Given the description of an element on the screen output the (x, y) to click on. 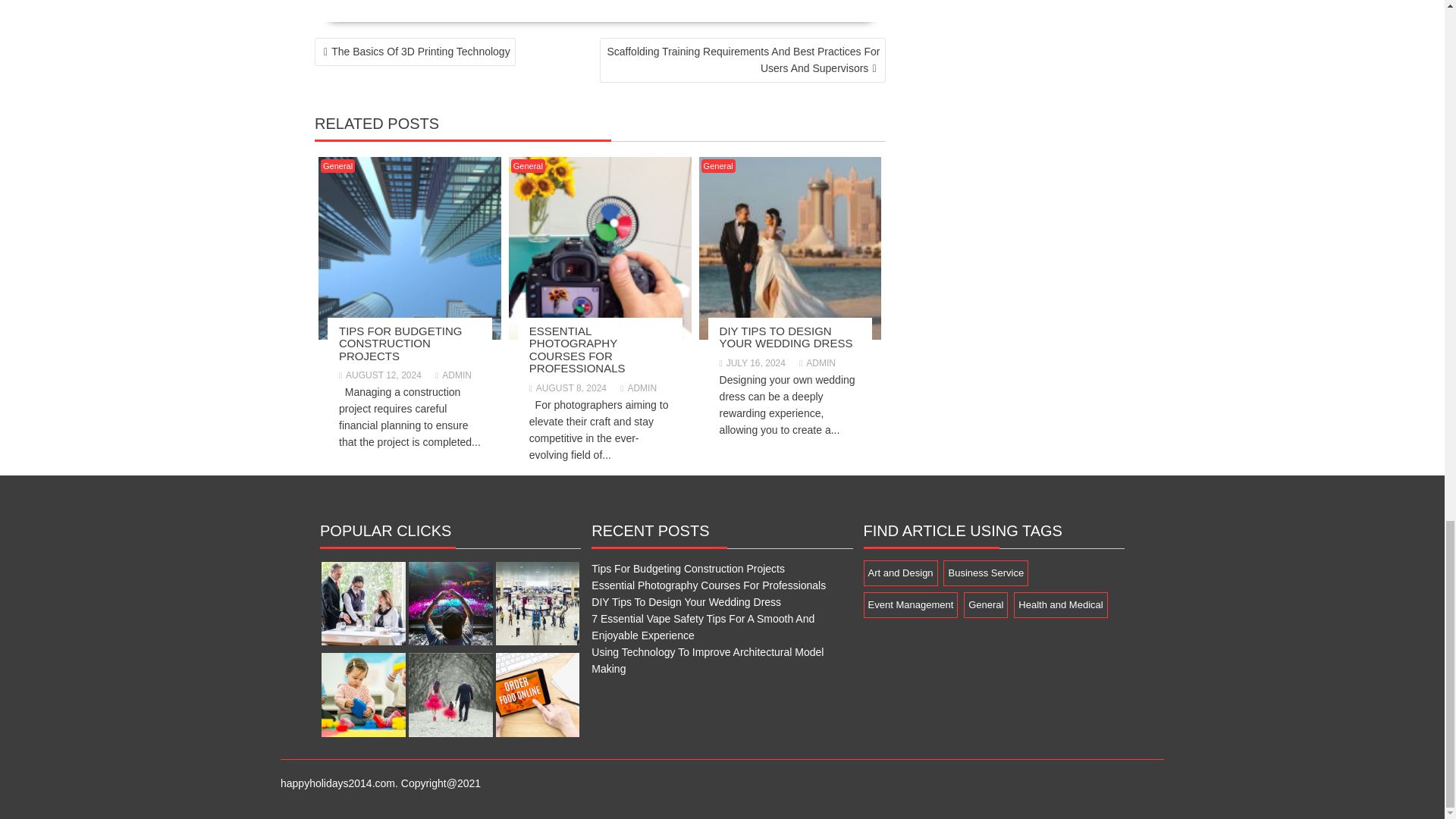
TIPS FOR BUDGETING CONSTRUCTION PROJECTS (401, 343)
The Basics Of 3D Printing Technology (414, 51)
General (527, 165)
AUGUST 12, 2024 (380, 375)
ADMIN (638, 388)
AUGUST 8, 2024 (568, 388)
General (337, 165)
ESSENTIAL PHOTOGRAPHY COURSES FOR PROFESSIONALS (577, 349)
ADMIN (453, 375)
